Given the description of an element on the screen output the (x, y) to click on. 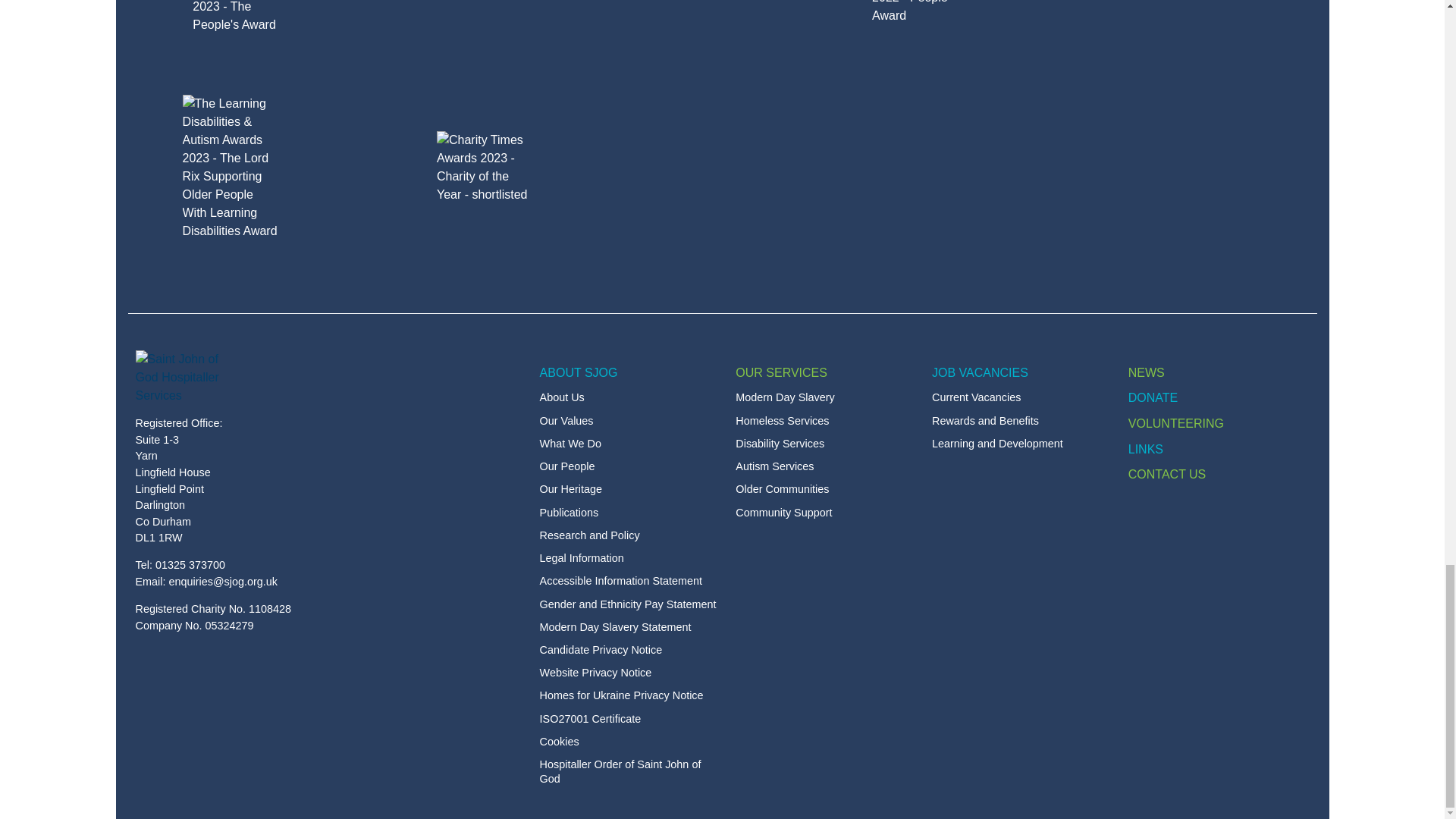
About us (630, 397)
Modern Day Slavery statement (630, 626)
Our people (630, 466)
Homes for Ukraine Privacy Notice (630, 695)
Hospitaller Order of Saint John of God (630, 771)
Candidate Privacy Notice (630, 649)
ISO27001 Certificate (630, 718)
Accessible information statement (630, 581)
Modern day slavery services (826, 397)
Publications (630, 513)
